Given the description of an element on the screen output the (x, y) to click on. 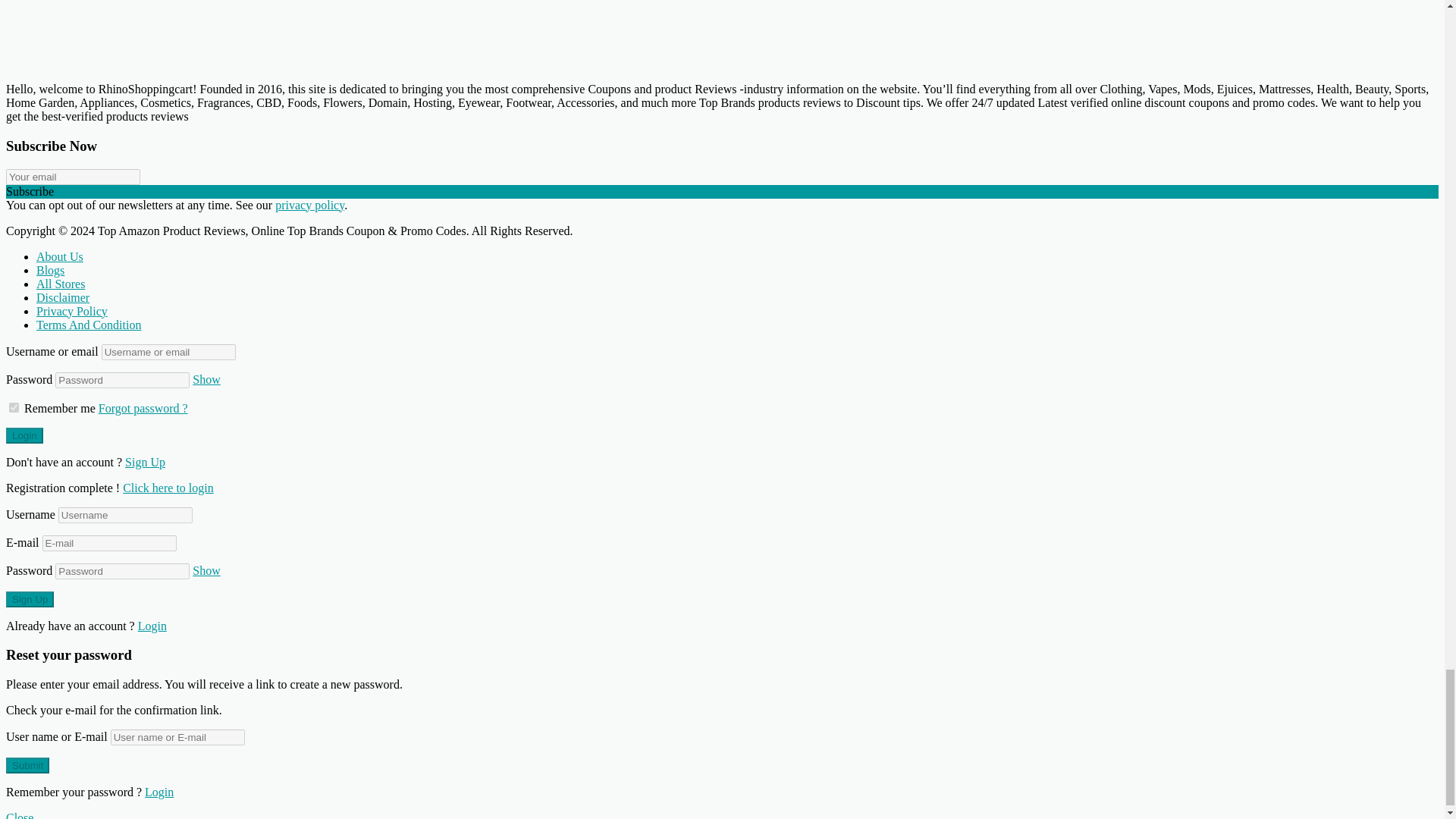
Submit (27, 765)
forever (13, 406)
Login (168, 486)
Sign Up (29, 599)
Login (24, 435)
